Given the description of an element on the screen output the (x, y) to click on. 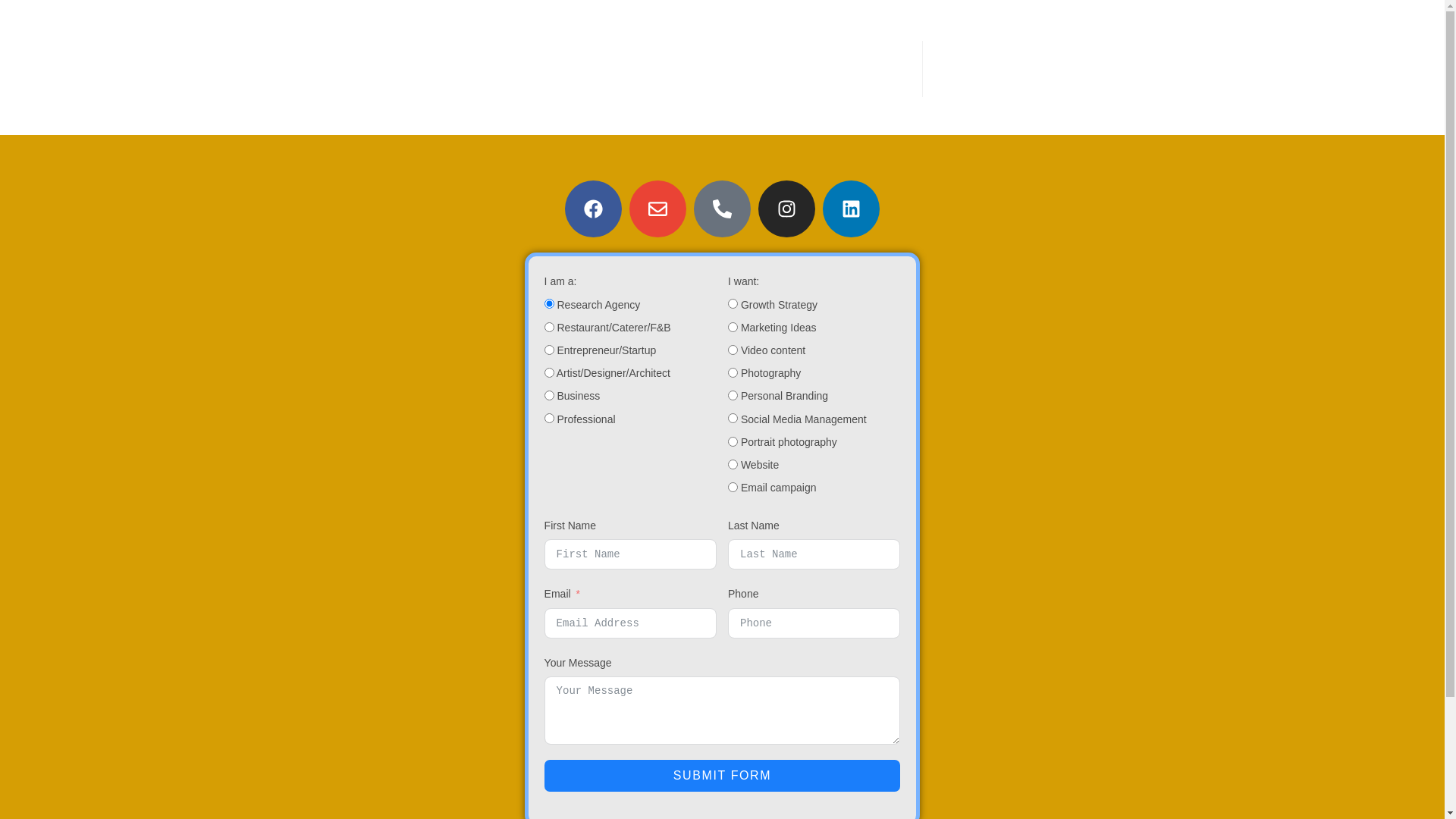
SUBMIT FORM Element type: text (722, 775)
